Given the description of an element on the screen output the (x, y) to click on. 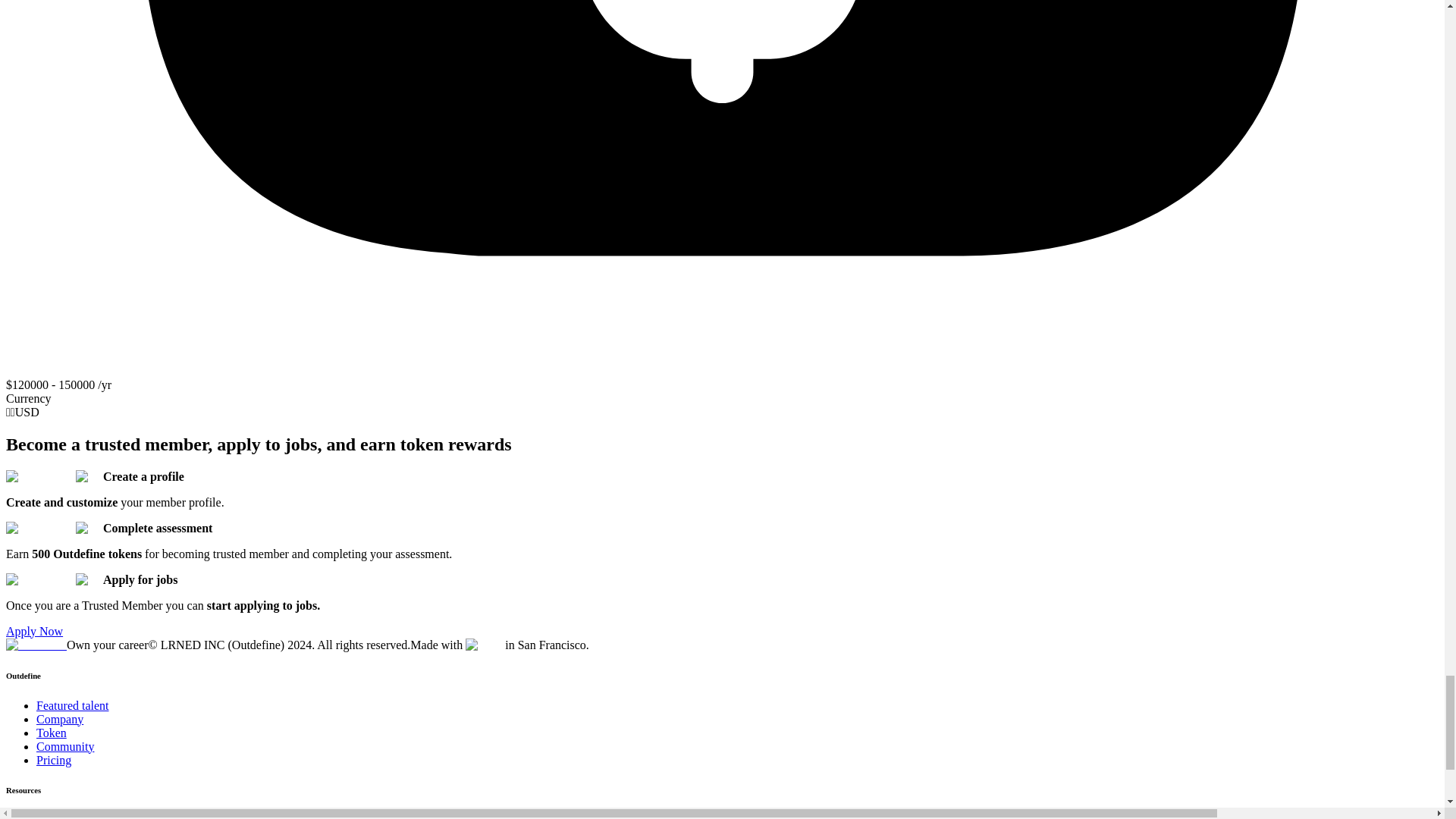
Featured talent (72, 705)
Careers (55, 816)
Company (59, 718)
Pricing (53, 759)
Apply Now (33, 631)
Community (65, 746)
Token (51, 732)
